Given the description of an element on the screen output the (x, y) to click on. 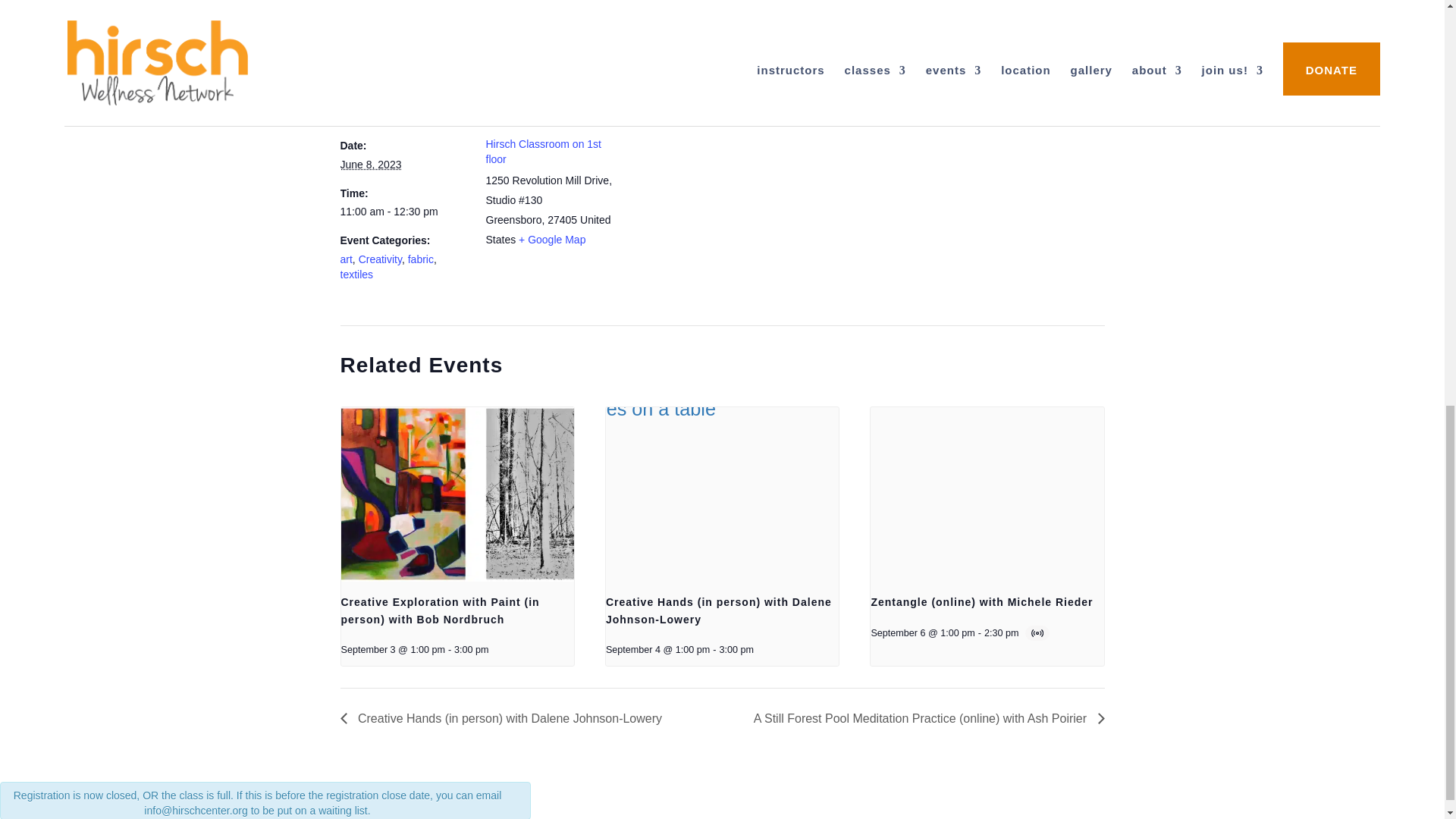
Virtual Event (1038, 633)
textiles (355, 274)
art (345, 259)
Creativity (379, 259)
2023-06-08 (403, 212)
fabric (420, 259)
Hirsch Classroom on 1st floor (542, 151)
2023-06-08 (370, 164)
Click to view a Google Map (551, 239)
